Given the description of an element on the screen output the (x, y) to click on. 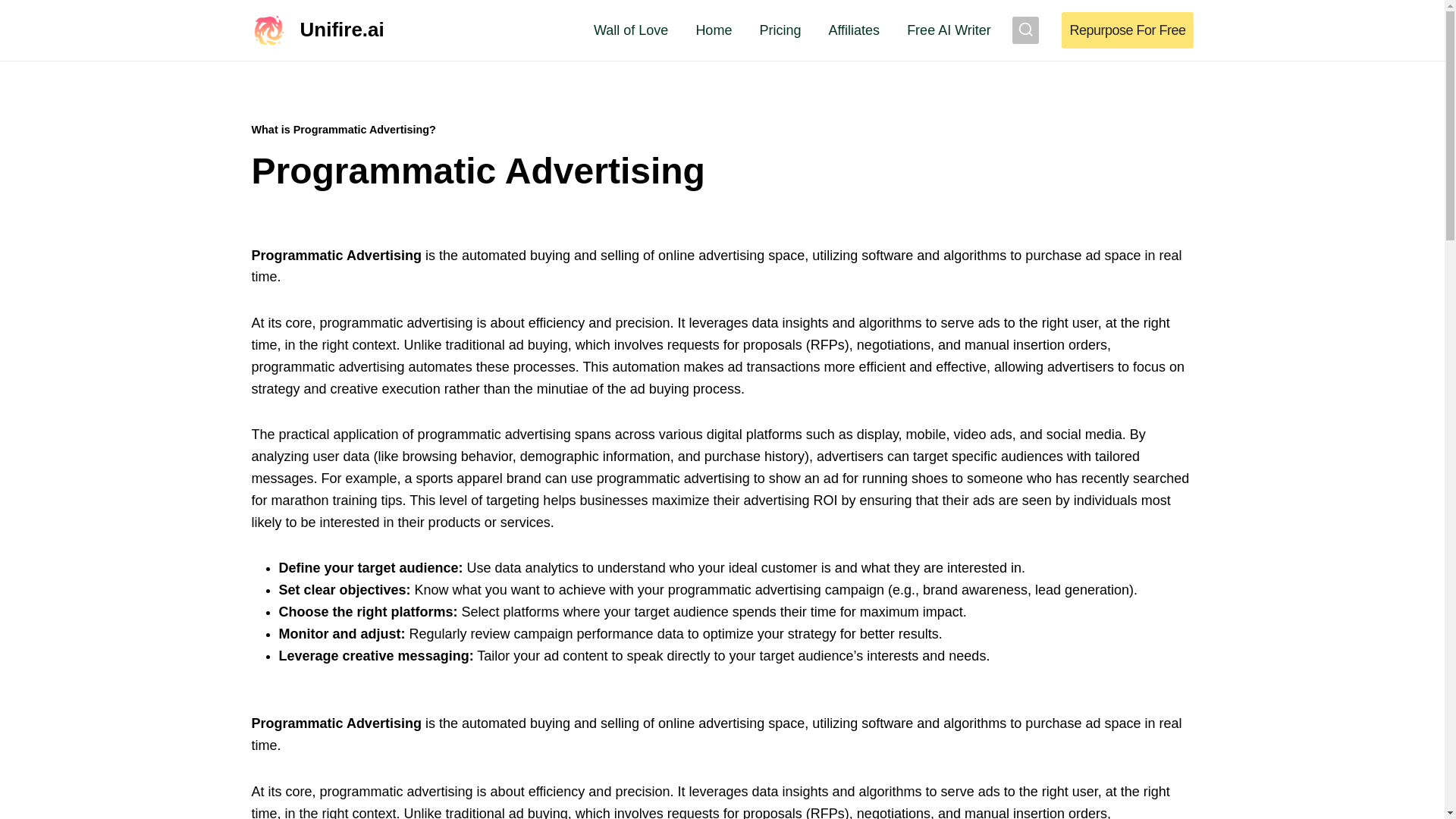
Repurpose For Free (1126, 30)
Wall of Love (630, 30)
Pricing (779, 30)
Affiliates (853, 30)
Free AI Writer (948, 30)
Unifire.ai (317, 30)
Home (713, 30)
